Given the description of an element on the screen output the (x, y) to click on. 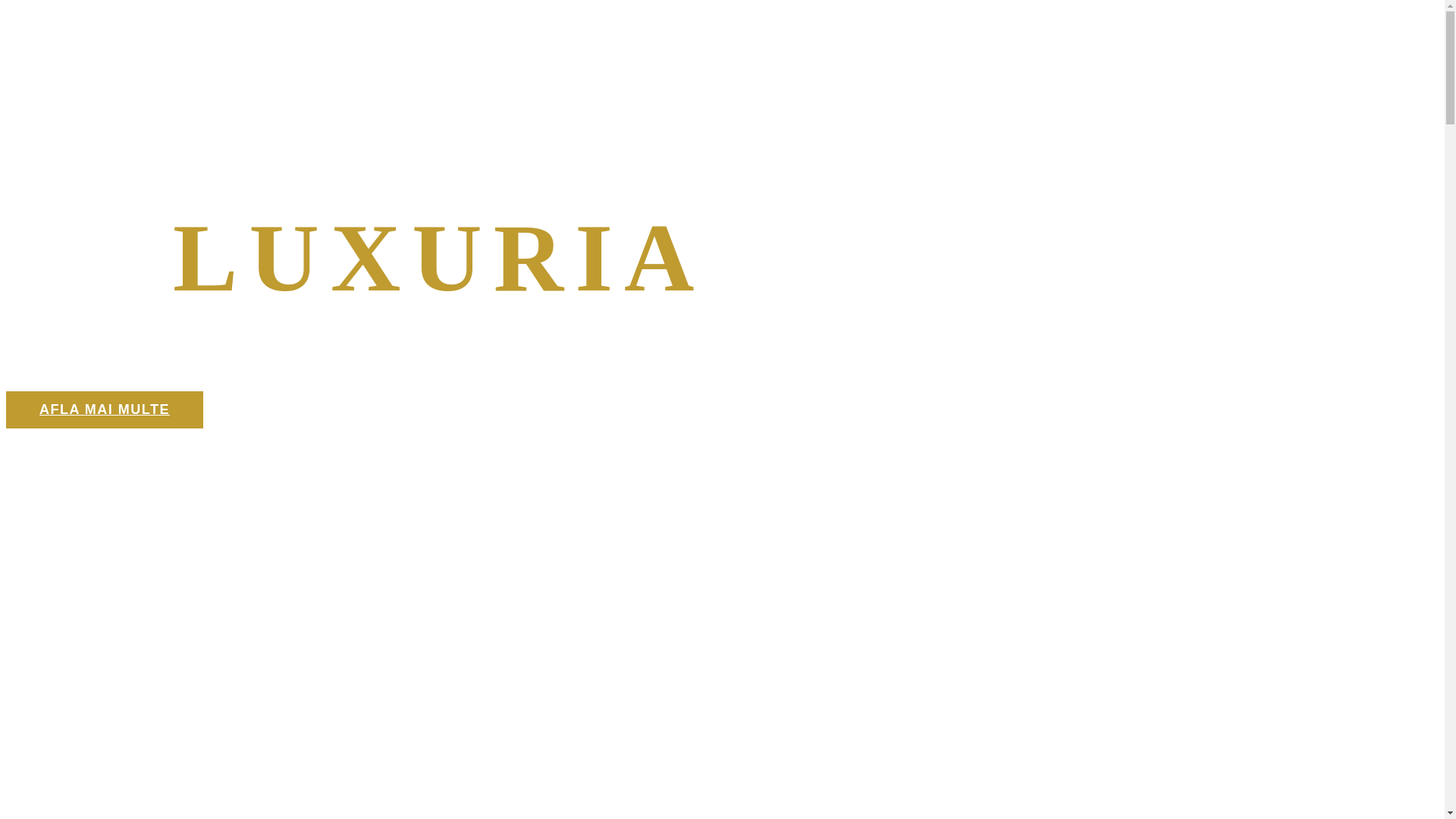
AFLA MAI MULTE Element type: text (104, 409)
